Given the description of an element on the screen output the (x, y) to click on. 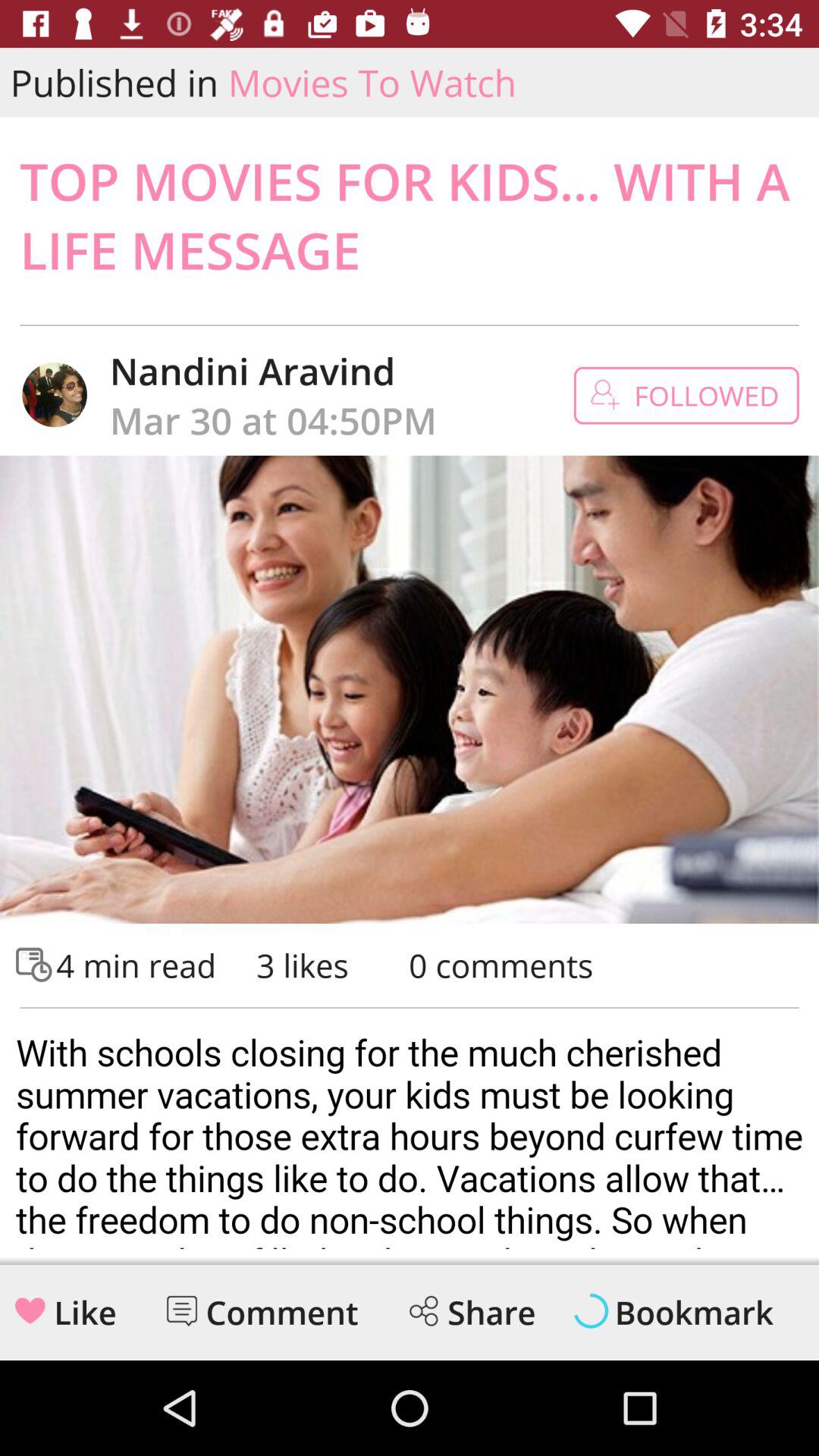
share logo (423, 1310)
